Given the description of an element on the screen output the (x, y) to click on. 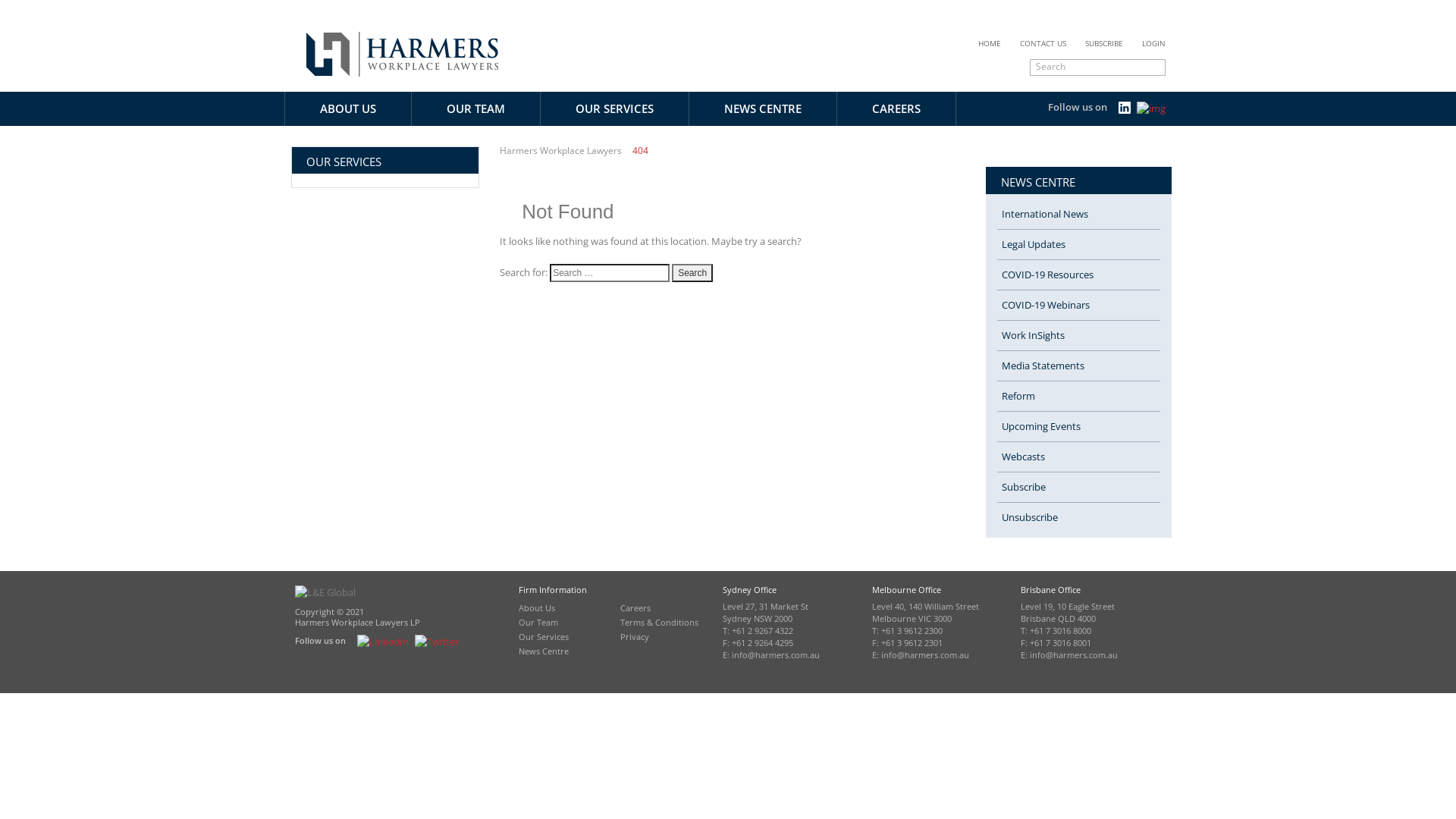
info@harmers.com.au Element type: text (1073, 655)
T: +61 7 3016 8000 Element type: text (1055, 630)
CONTACT US Element type: text (1042, 43)
NEWS CENTRE Element type: text (762, 108)
News Centre Element type: text (543, 650)
info@harmers.com.au Element type: text (775, 655)
Webcasts Element type: text (1078, 457)
Reform Element type: text (1078, 396)
Work InSights Element type: text (1078, 335)
T: +61 2 9267 4322 Element type: text (757, 630)
T: +61 3 9612 2300 Element type: text (907, 630)
Upcoming Events Element type: text (1078, 426)
info@harmers.com.au Element type: text (925, 655)
Search for: Element type: hover (609, 272)
OUR TEAM Element type: text (475, 108)
Subscribe Element type: text (1078, 487)
Search Element type: text (1087, 65)
COVID-19 Webinars Element type: text (1078, 305)
Unsubscribe Element type: text (1078, 517)
SUBSCRIBE Element type: text (1104, 43)
Harmers Workplace Lawyers Element type: text (560, 150)
Privacy Element type: text (634, 636)
Media Statements Element type: text (1078, 366)
LOGIN Element type: text (1153, 43)
ABOUT US Element type: text (348, 108)
OUR SERVICES Element type: text (614, 108)
Terms & Conditions Element type: text (659, 622)
CAREERS Element type: text (896, 108)
Search Element type: text (691, 272)
About Us Element type: text (536, 607)
COVID-19 Resources Element type: text (1078, 275)
Our Services Element type: text (543, 636)
Legal Updates Element type: text (1078, 244)
Our Team Element type: text (538, 622)
HOME Element type: text (989, 43)
International News Element type: text (1078, 214)
Careers Element type: text (635, 607)
